Given the description of an element on the screen output the (x, y) to click on. 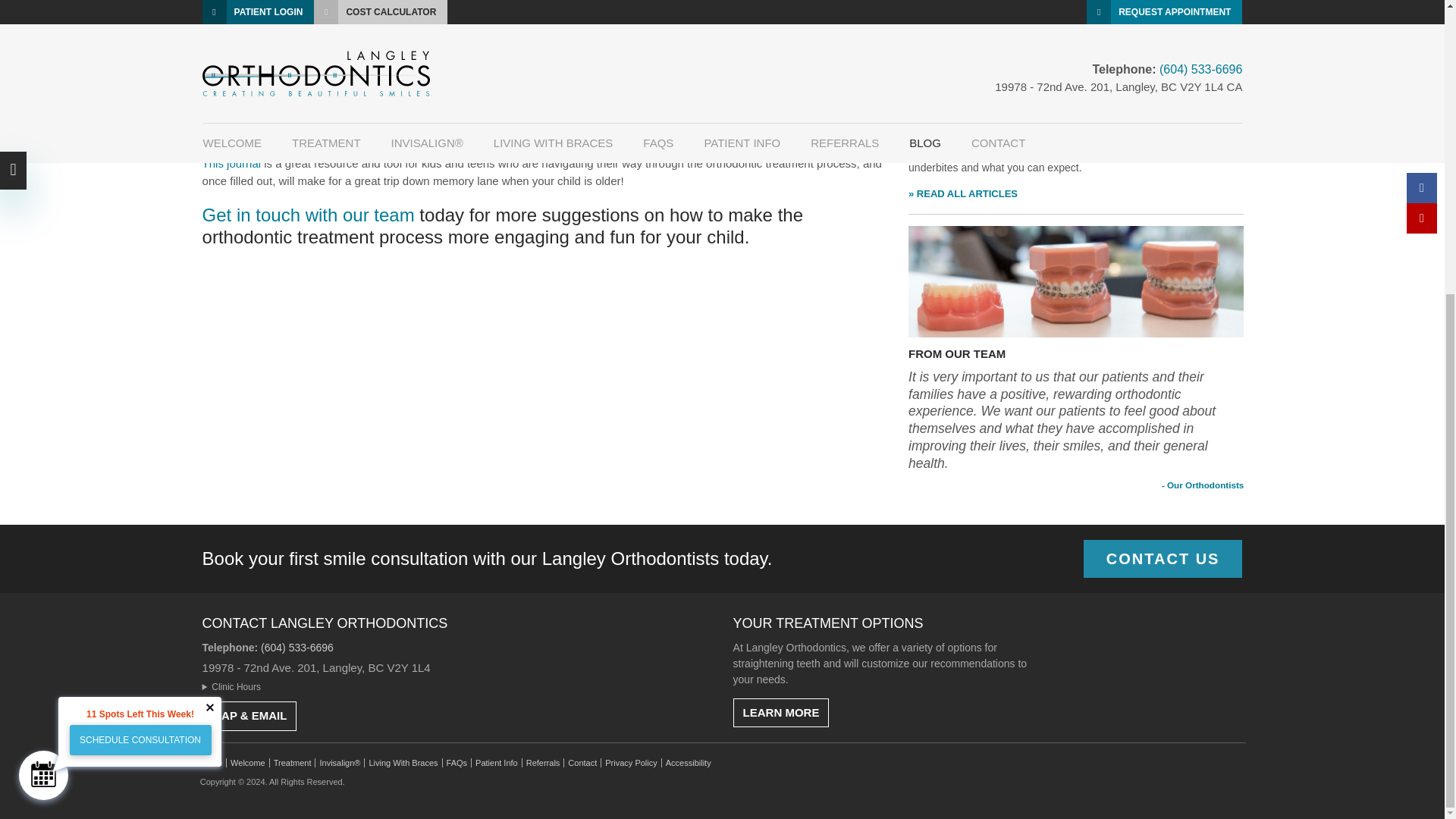
calendar (43, 322)
